Given the description of an element on the screen output the (x, y) to click on. 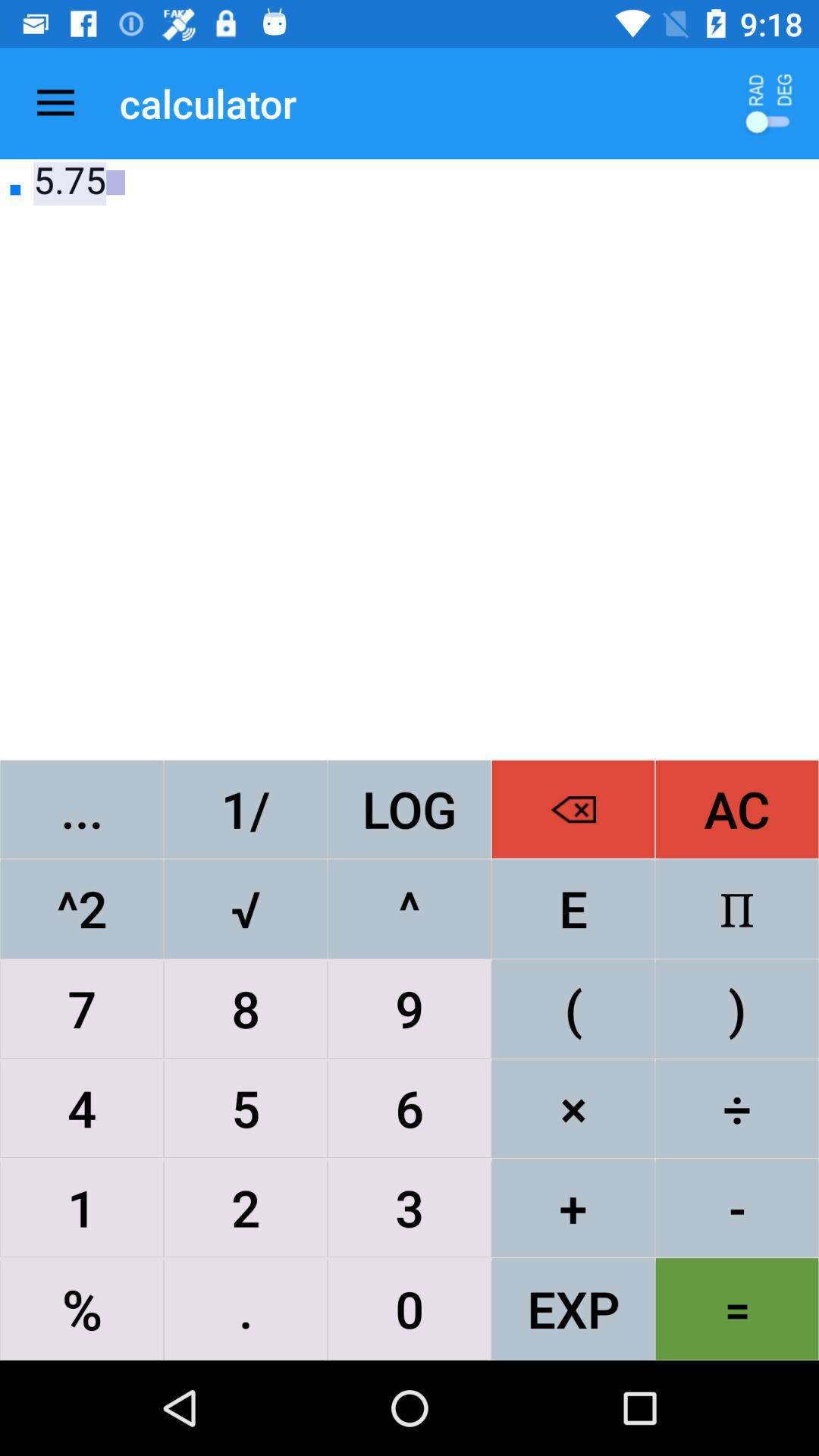
turn on icon next to the ac (572, 908)
